Given the description of an element on the screen output the (x, y) to click on. 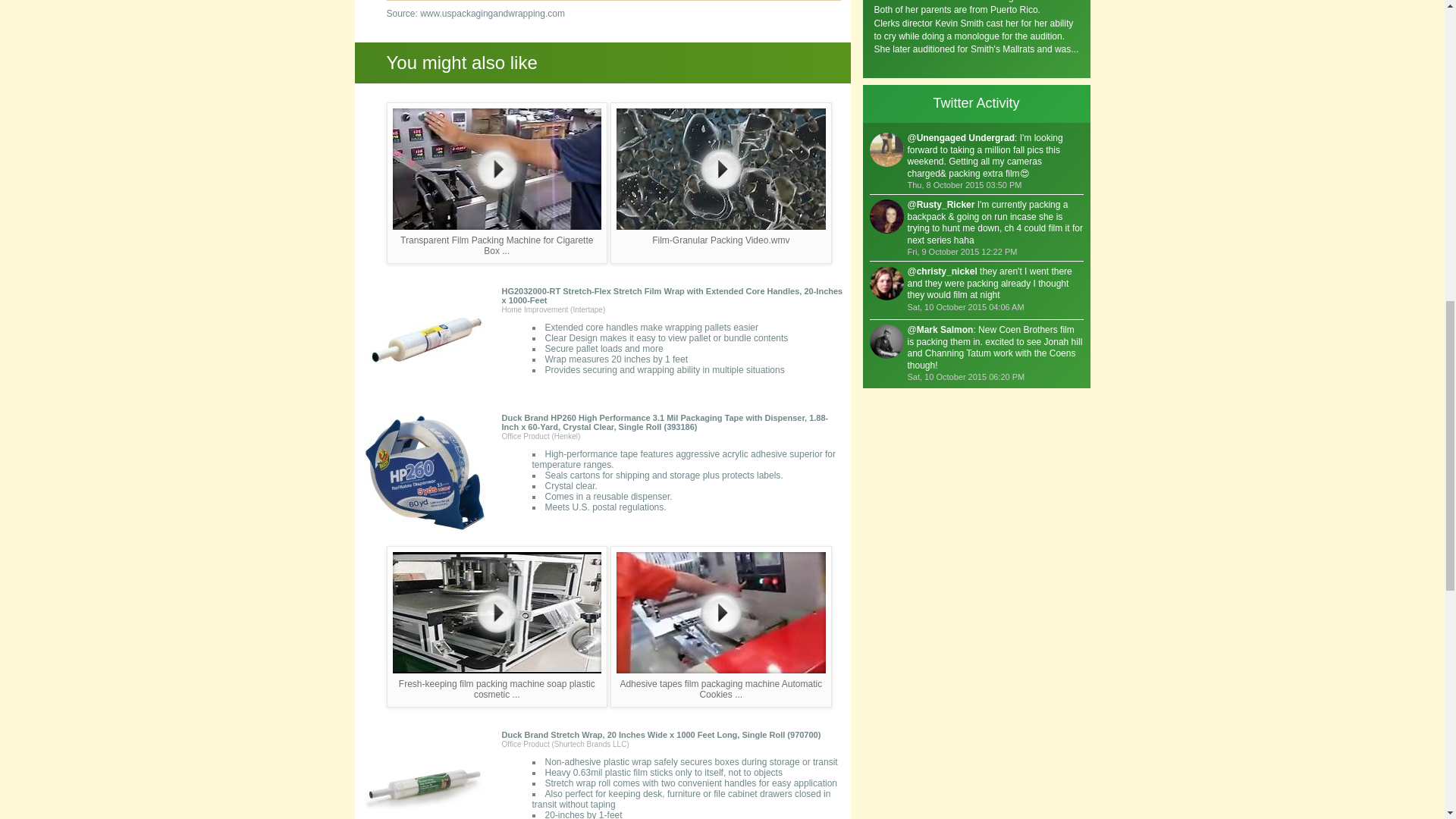
View this video from YouTube (497, 626)
View this video from YouTube (720, 182)
View this video from YouTube (497, 182)
View this video from YouTube (720, 626)
